Given the description of an element on the screen output the (x, y) to click on. 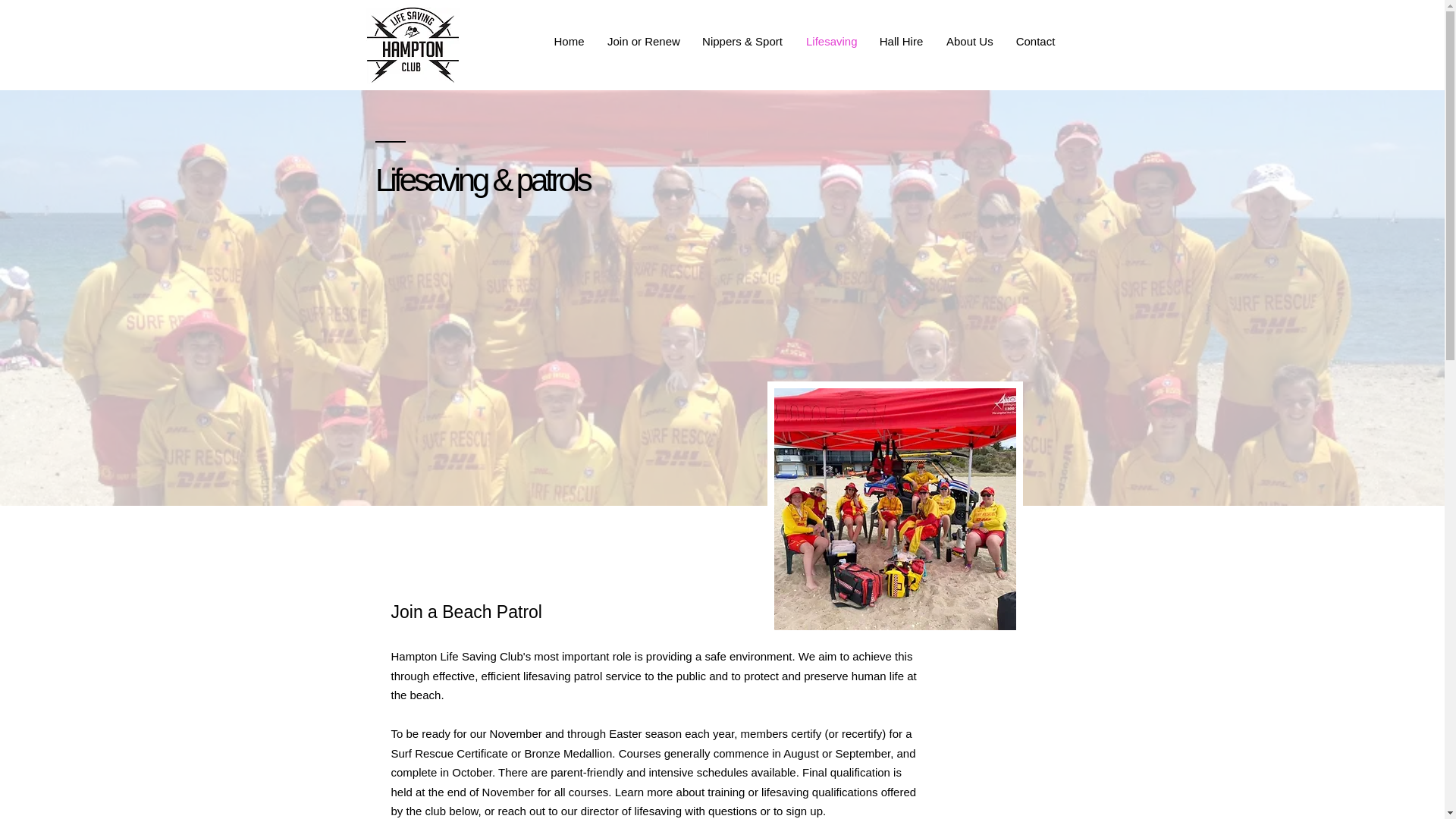
About Us (969, 41)
Contact (1035, 41)
Join or Renew (642, 41)
Lifesaving (830, 41)
Home (568, 41)
Hall Hire (900, 41)
